Given the description of an element on the screen output the (x, y) to click on. 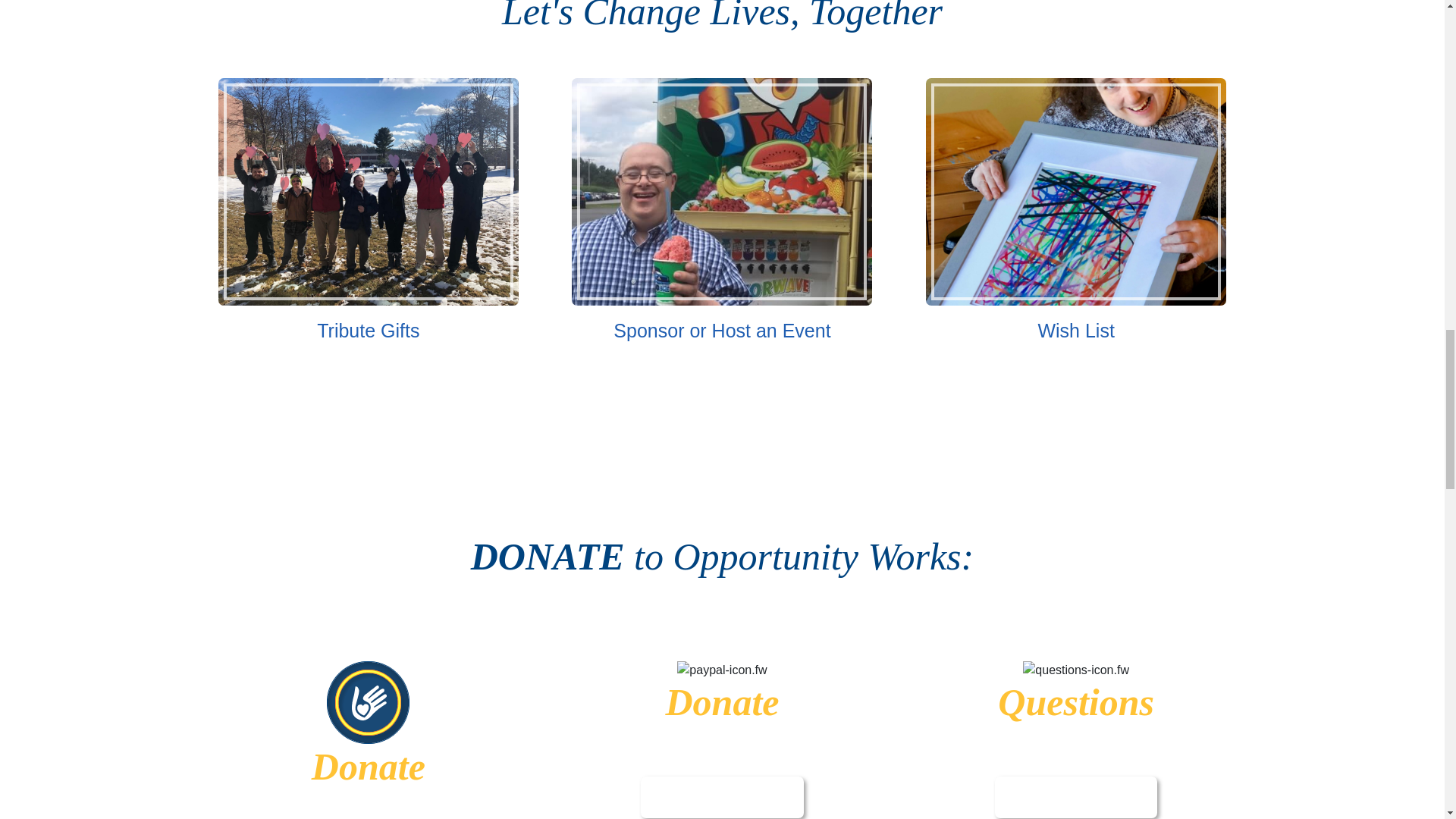
LEARN MORE (722, 409)
LEARN MORE (1075, 797)
WISH LIST (1076, 409)
LEARN MORE (367, 409)
LEARN MORE (721, 797)
